Given the description of an element on the screen output the (x, y) to click on. 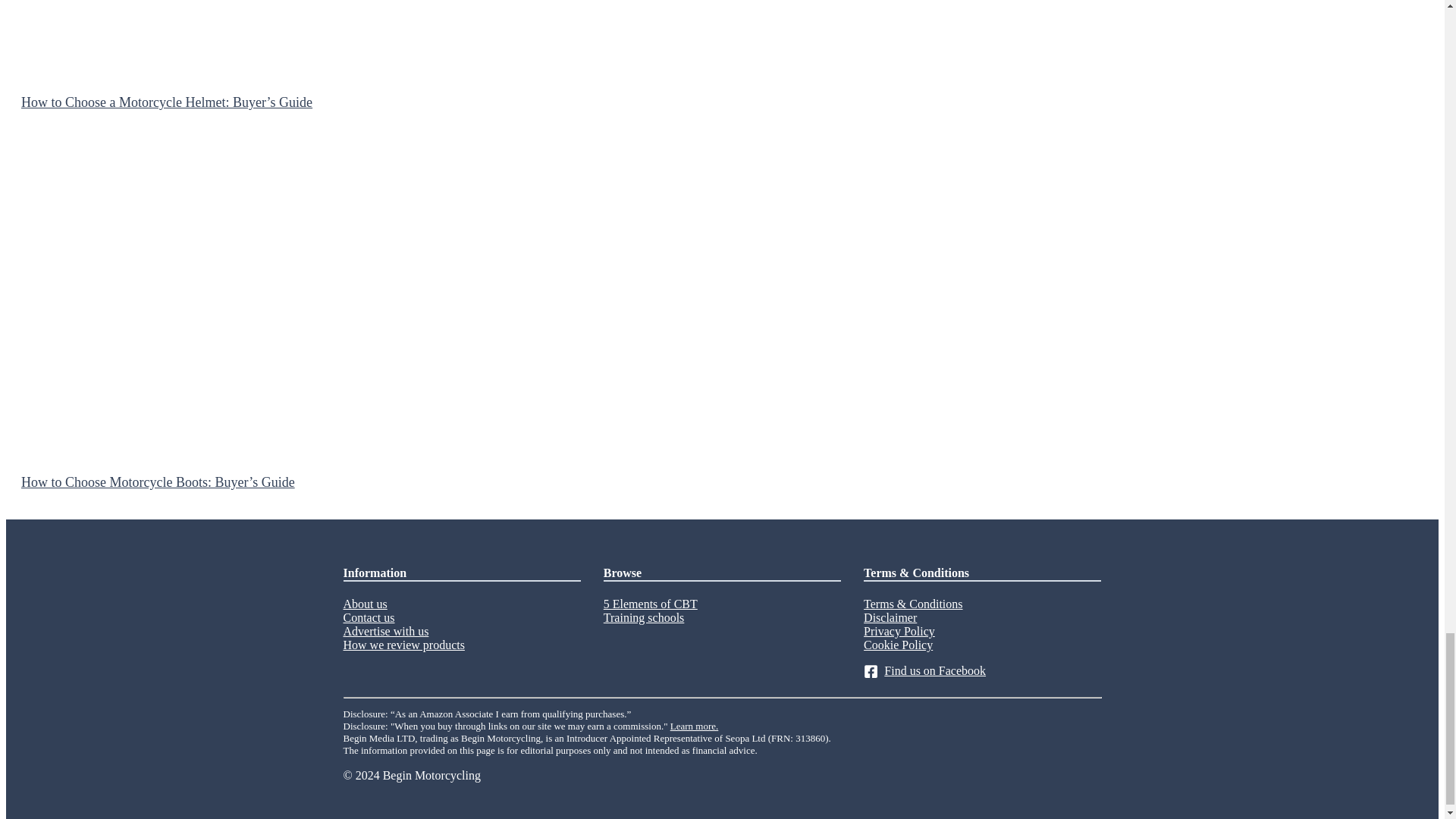
About us (364, 603)
How we review products (403, 644)
Contact us (368, 617)
Advertise with us (385, 631)
5 Elements of CBT (650, 603)
